Given the description of an element on the screen output the (x, y) to click on. 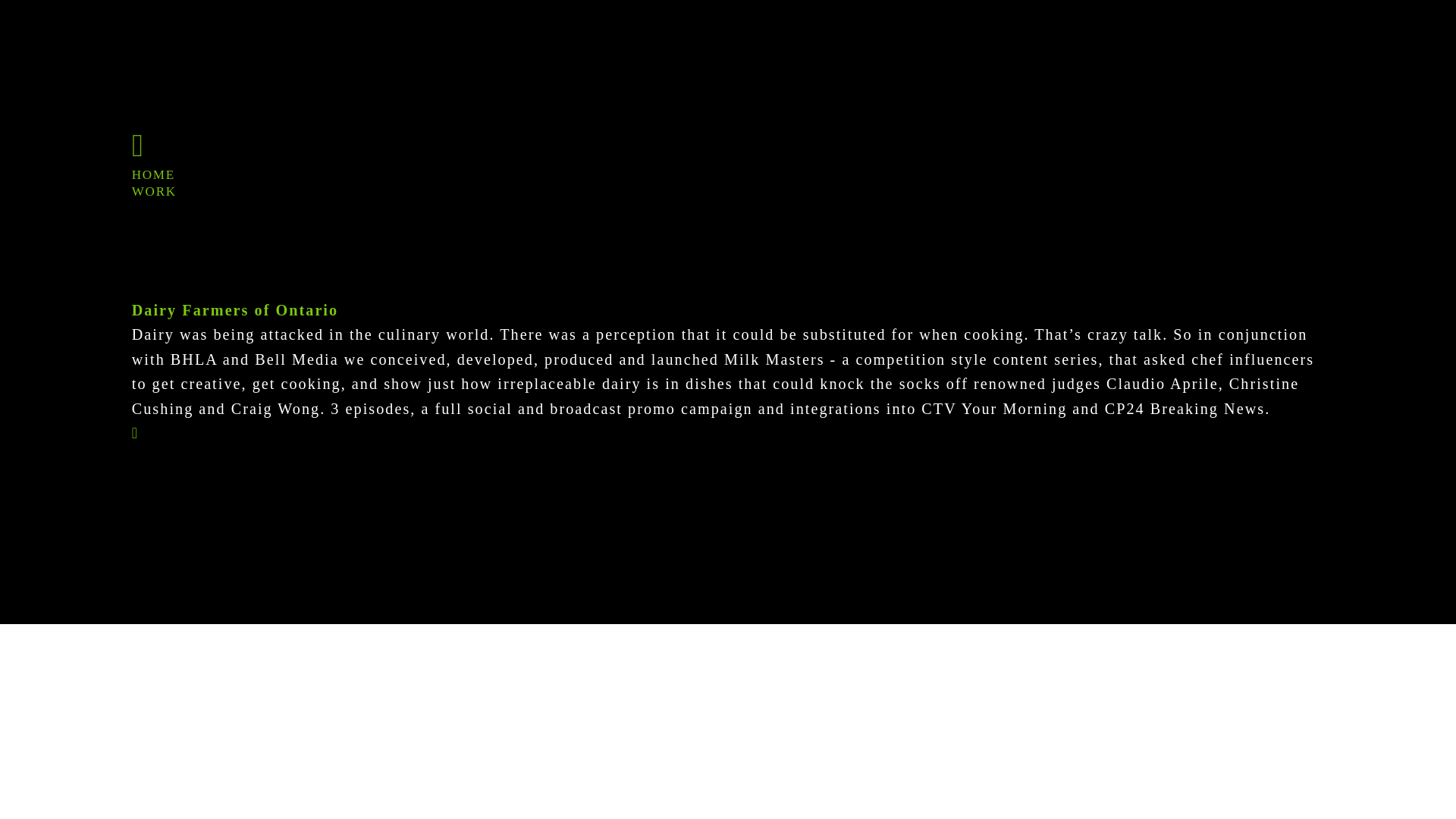
WORK (154, 191)
HOME (153, 175)
Dairy Farmers of Ontario (234, 311)
